Given the description of an element on the screen output the (x, y) to click on. 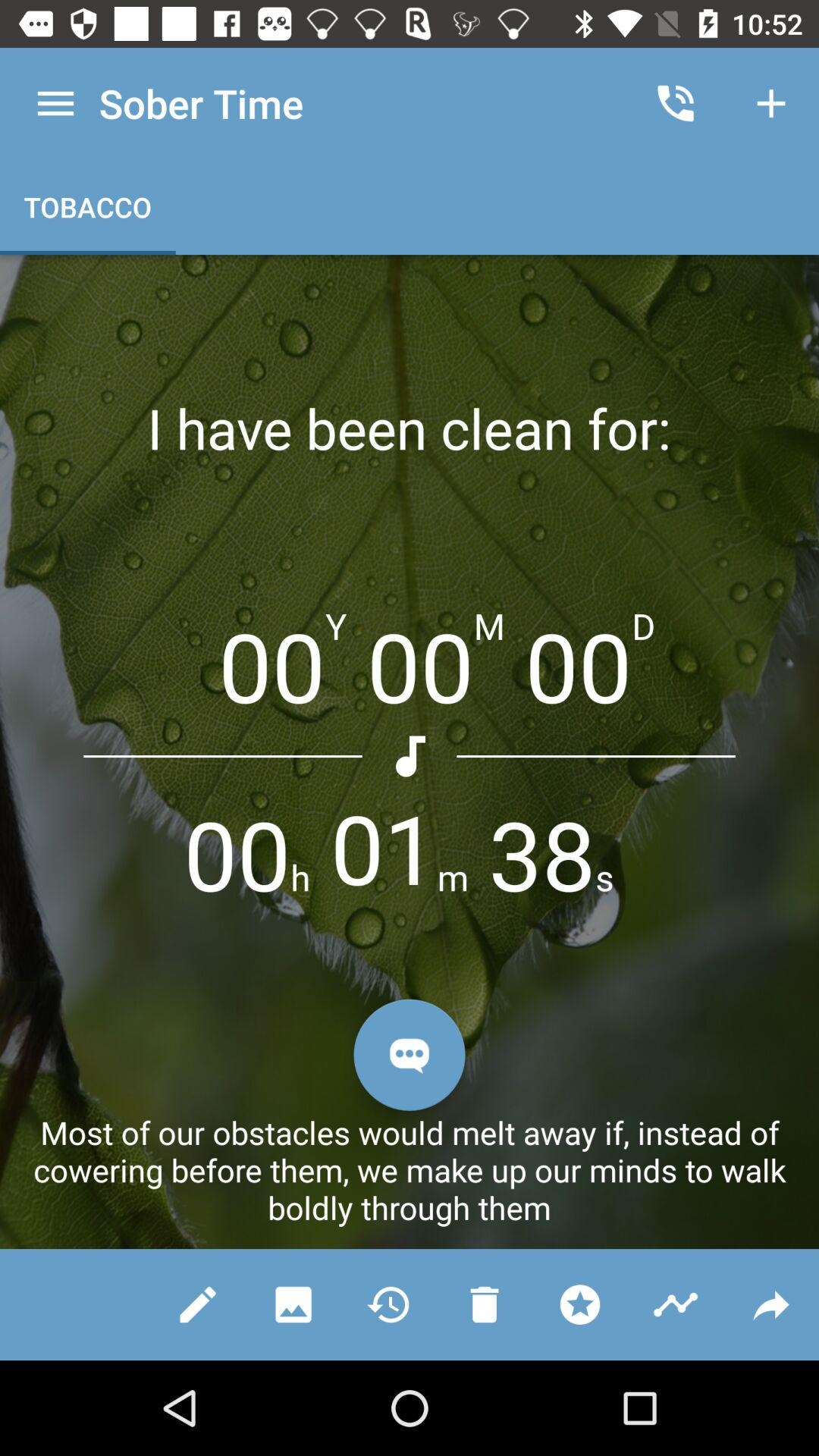
launch icon next to the   sober time app (675, 103)
